Given the description of an element on the screen output the (x, y) to click on. 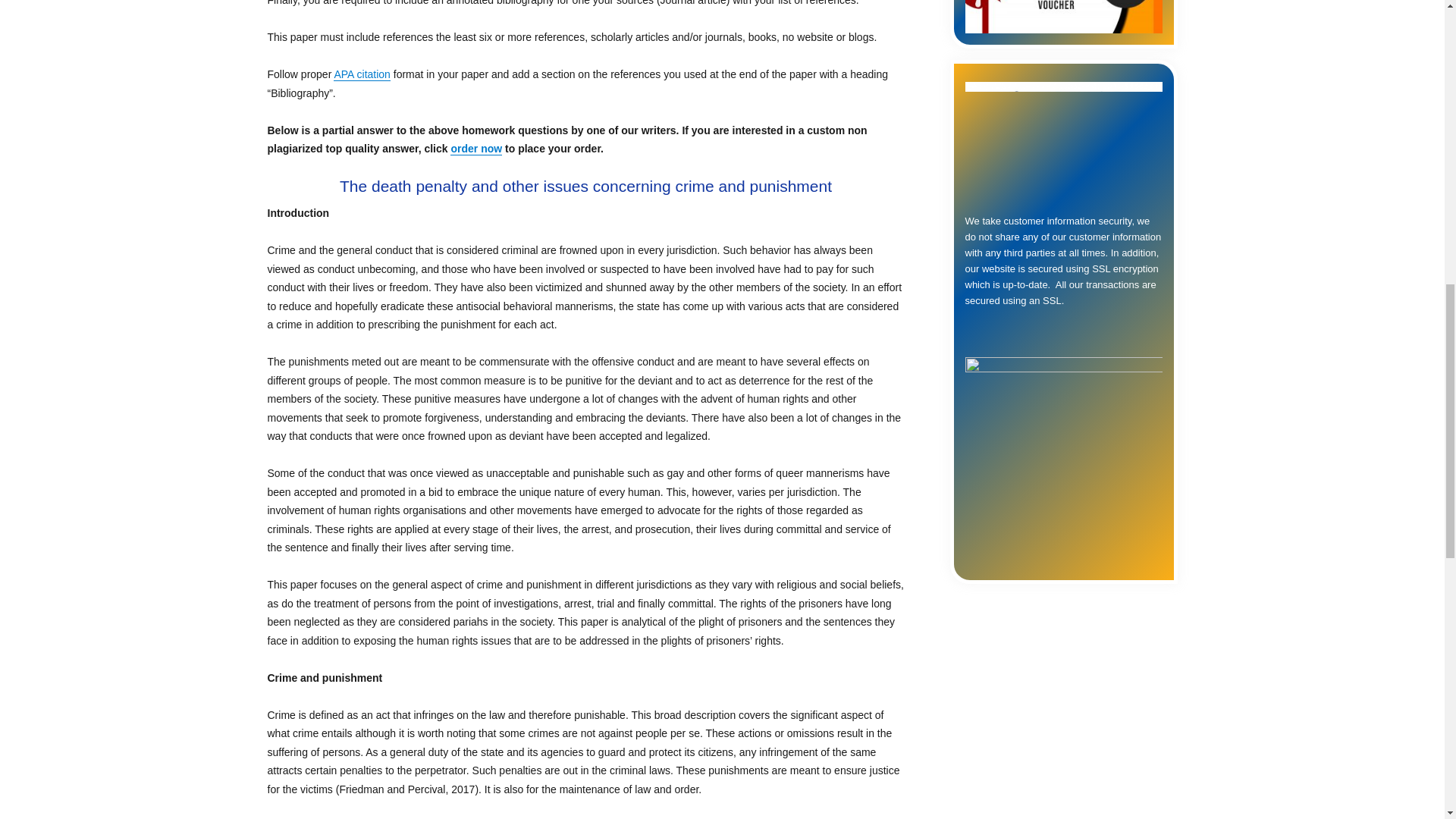
Best Essay Writers (1062, 16)
APA citation (361, 73)
order now (475, 148)
